Given the description of an element on the screen output the (x, y) to click on. 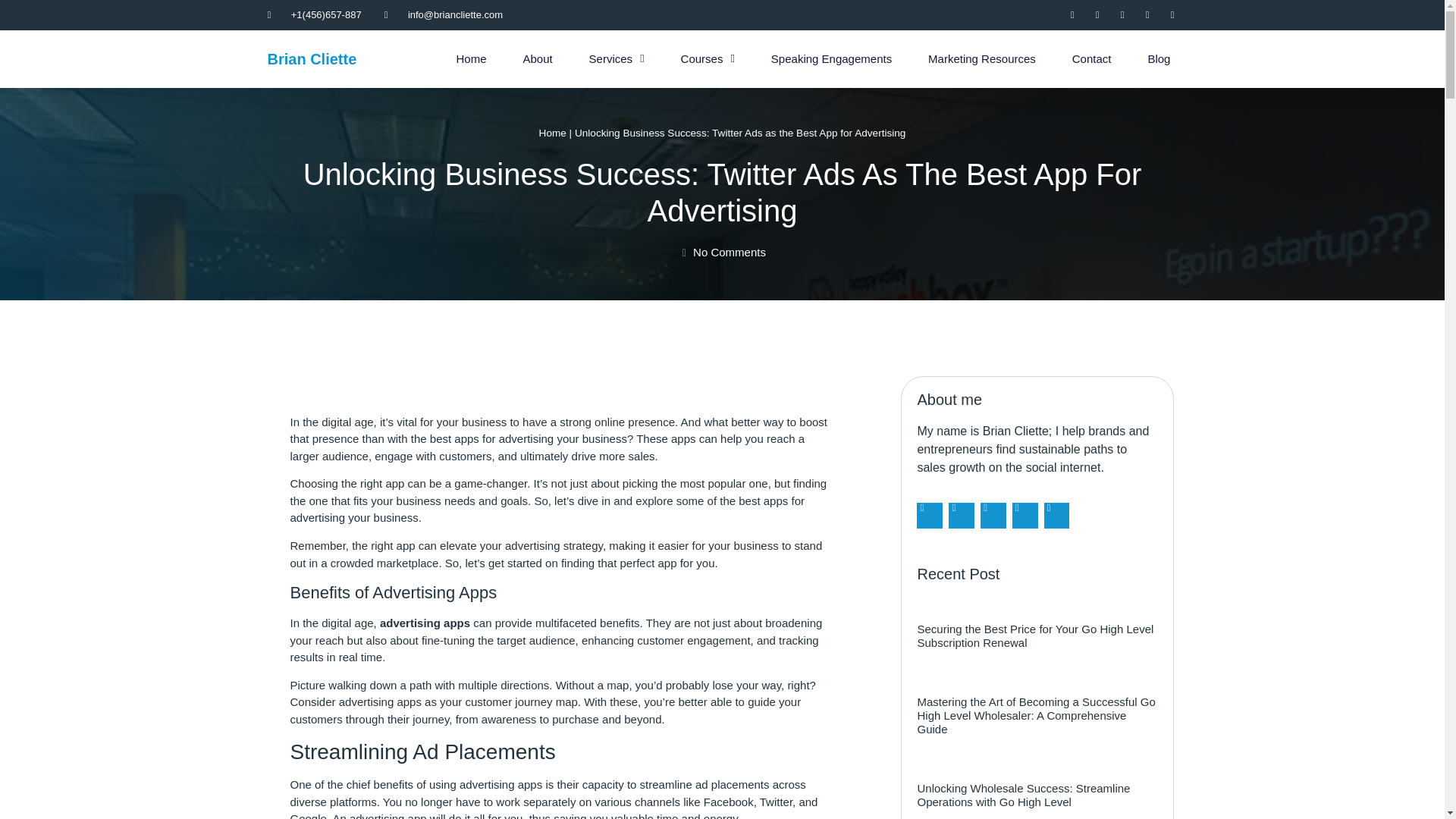
Home (470, 58)
Marketing Resources (981, 58)
Speaking Engagements (831, 58)
Brian Cliette (311, 57)
Services (616, 58)
Blog (1158, 58)
About (537, 58)
Courses (707, 58)
Contact (1091, 58)
